Given the description of an element on the screen output the (x, y) to click on. 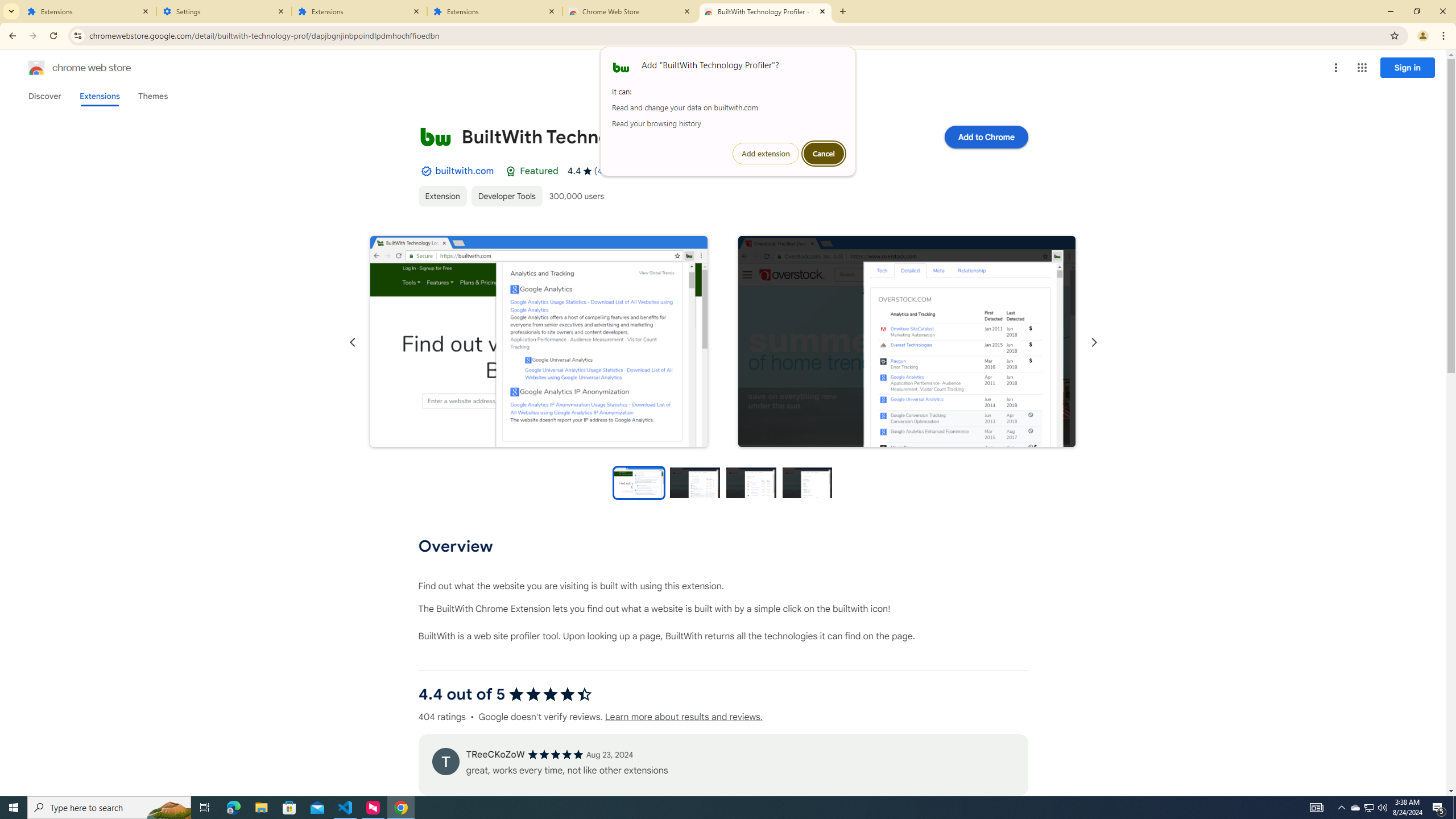
Visual Studio Code - 1 running window (345, 807)
Extensions (359, 11)
By Established Publisher Badge (425, 170)
Show desktop (1454, 807)
Extensions (494, 11)
Chrome Web Store logo (36, 67)
Developer Tools (506, 195)
Preview slide 4 (807, 482)
Featured Badge (510, 170)
Next slide (1093, 342)
